Given the description of an element on the screen output the (x, y) to click on. 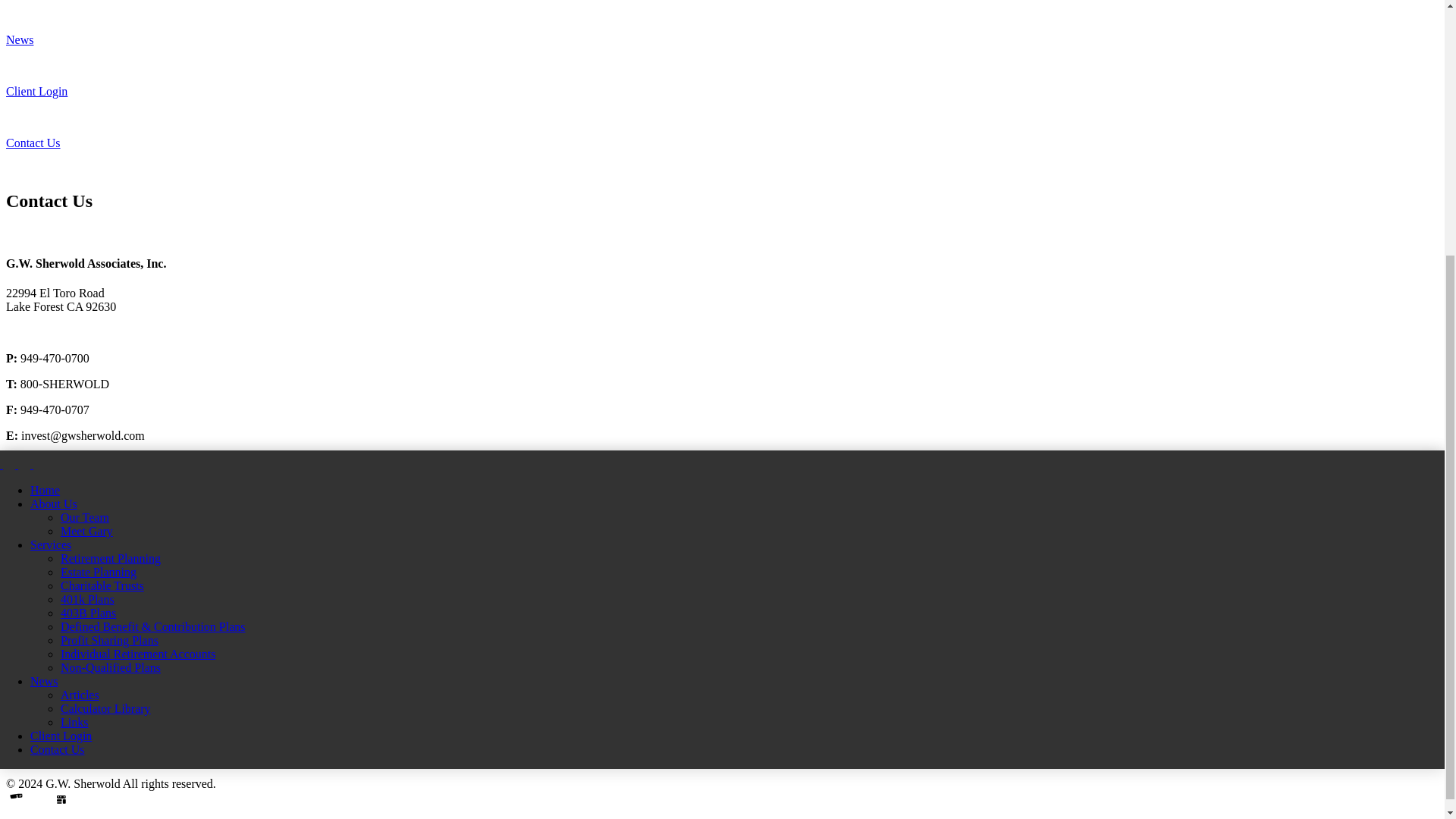
SIPC (299, 731)
Client Login (35, 91)
Services (50, 544)
401k Plans (88, 599)
Articles (80, 694)
About Us (53, 503)
Estate Planning (98, 571)
Links (74, 721)
Profit Sharing Plans (109, 640)
Meet Gary (87, 530)
Contact Us (57, 748)
Privacy Policy (41, 680)
Home (44, 490)
Charitable Trusts (102, 585)
403B Plans (88, 612)
